Given the description of an element on the screen output the (x, y) to click on. 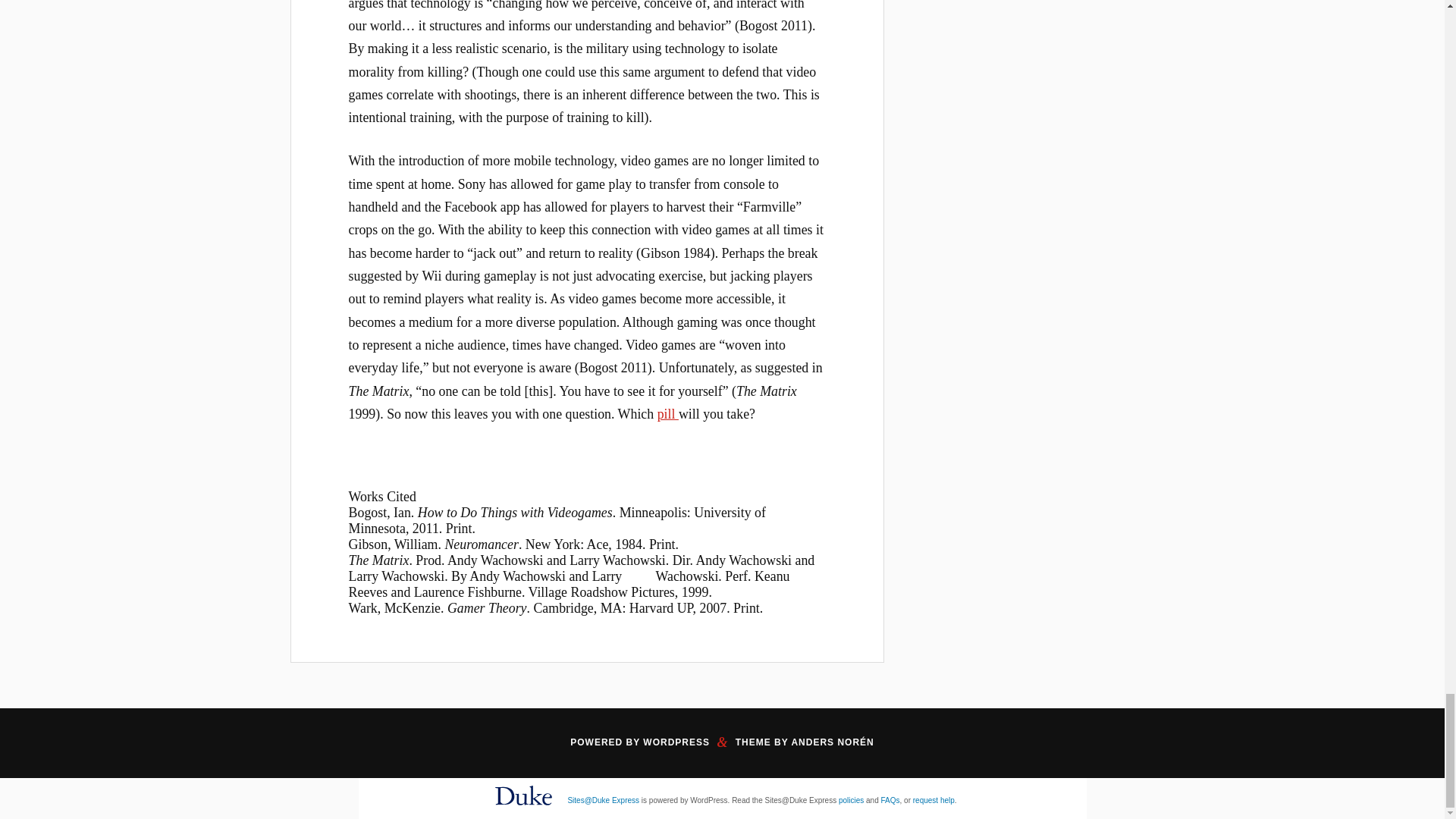
Visit Duke.edu (523, 808)
pill (668, 413)
